Given the description of an element on the screen output the (x, y) to click on. 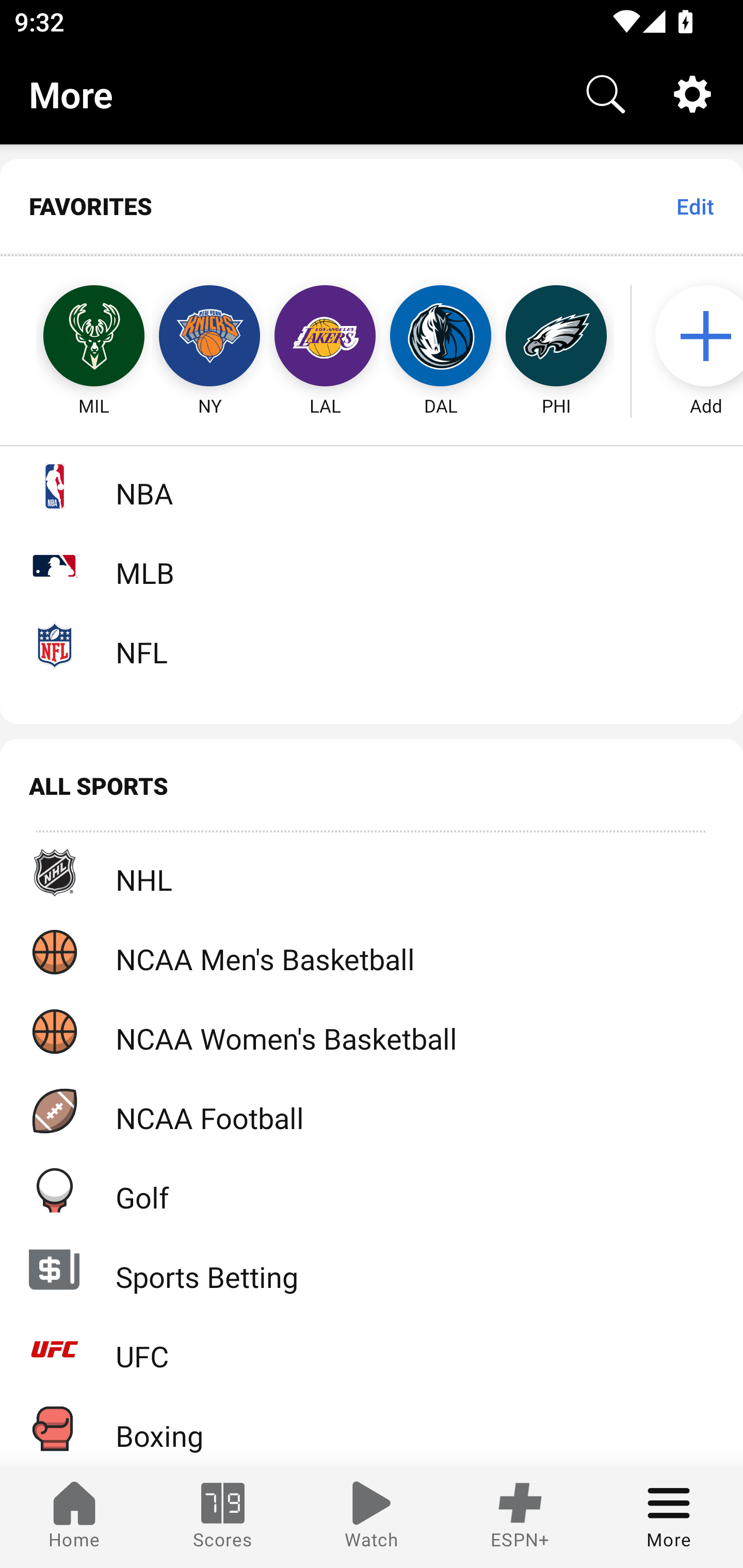
Search (605, 93)
Settings (692, 93)
Edit (695, 205)
MIL Milwaukee Bucks (75, 336)
NY New York Knicks (209, 336)
LAL Los Angeles Lakers (324, 336)
DAL Dallas Mavericks (440, 336)
PHI Philadelphia Eagles (555, 336)
 Add (695, 336)
NBA (371, 485)
MLB (371, 565)
NFL (371, 645)
NHL (371, 872)
NCAA Men's Basketball (371, 951)
NCAA Women's Basketball (371, 1030)
NCAA Football (371, 1110)
Golf (371, 1189)
Sports Betting (371, 1269)
UFC (371, 1349)
Boxing (371, 1428)
Home (74, 1517)
Scores (222, 1517)
Watch (371, 1517)
ESPN+ (519, 1517)
